Given the description of an element on the screen output the (x, y) to click on. 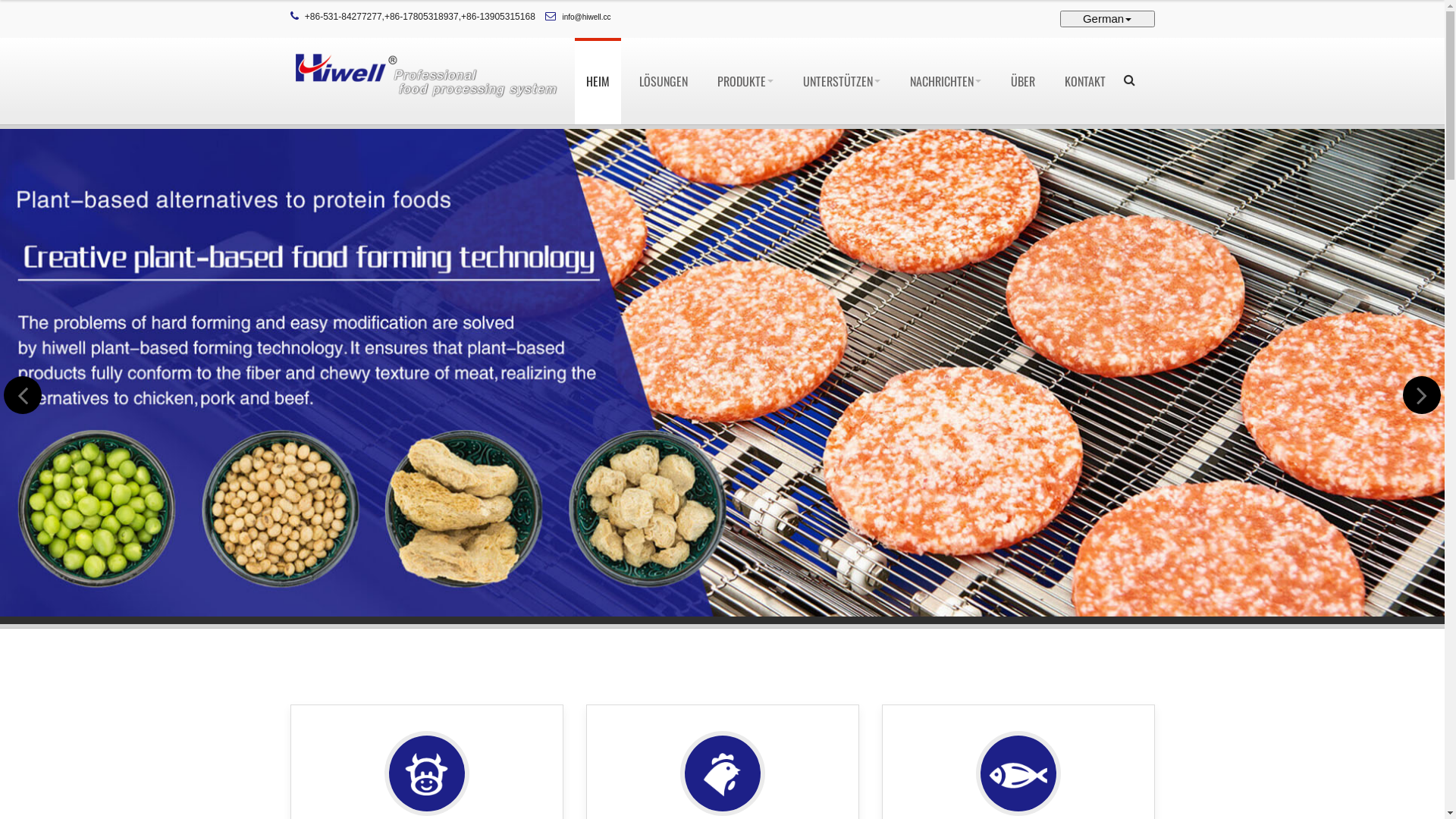
NACHRICHTEN Element type: text (944, 80)
info@hiwell.cc Element type: text (586, 16)
PRODUKTE Element type: text (744, 80)
HEIM Element type: text (597, 80)
German Element type: text (1107, 18)
KONTAKT Element type: text (1084, 80)
